Given the description of an element on the screen output the (x, y) to click on. 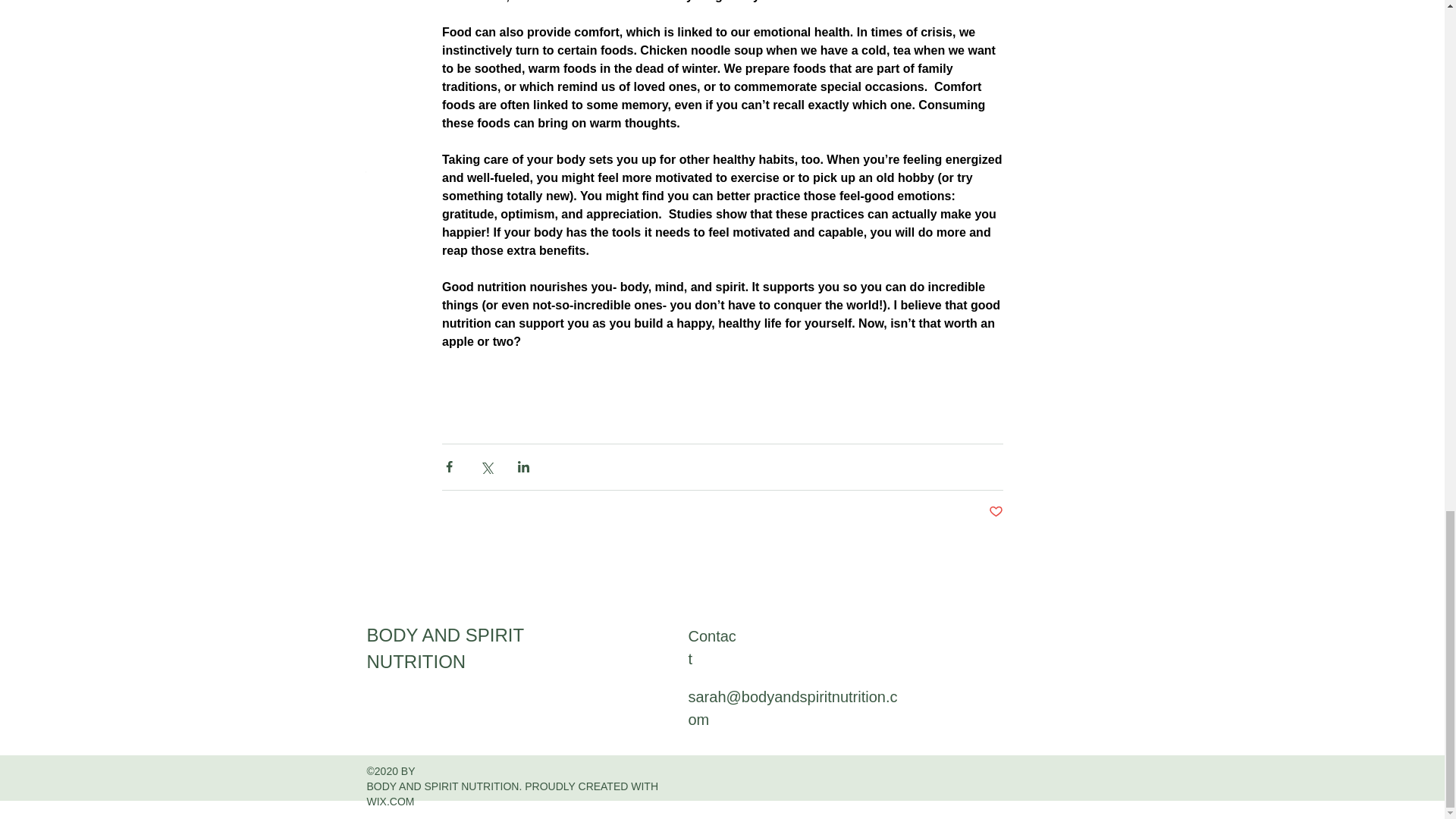
Add Some Chickpeas to Your Day! (964, 47)
Why I Keep Frozen Berries On Hand (479, 103)
spirit (532, 234)
nutrition (493, 234)
mind (408, 234)
body (376, 234)
nourish (446, 234)
Post not marked as liked (995, 512)
